Given the description of an element on the screen output the (x, y) to click on. 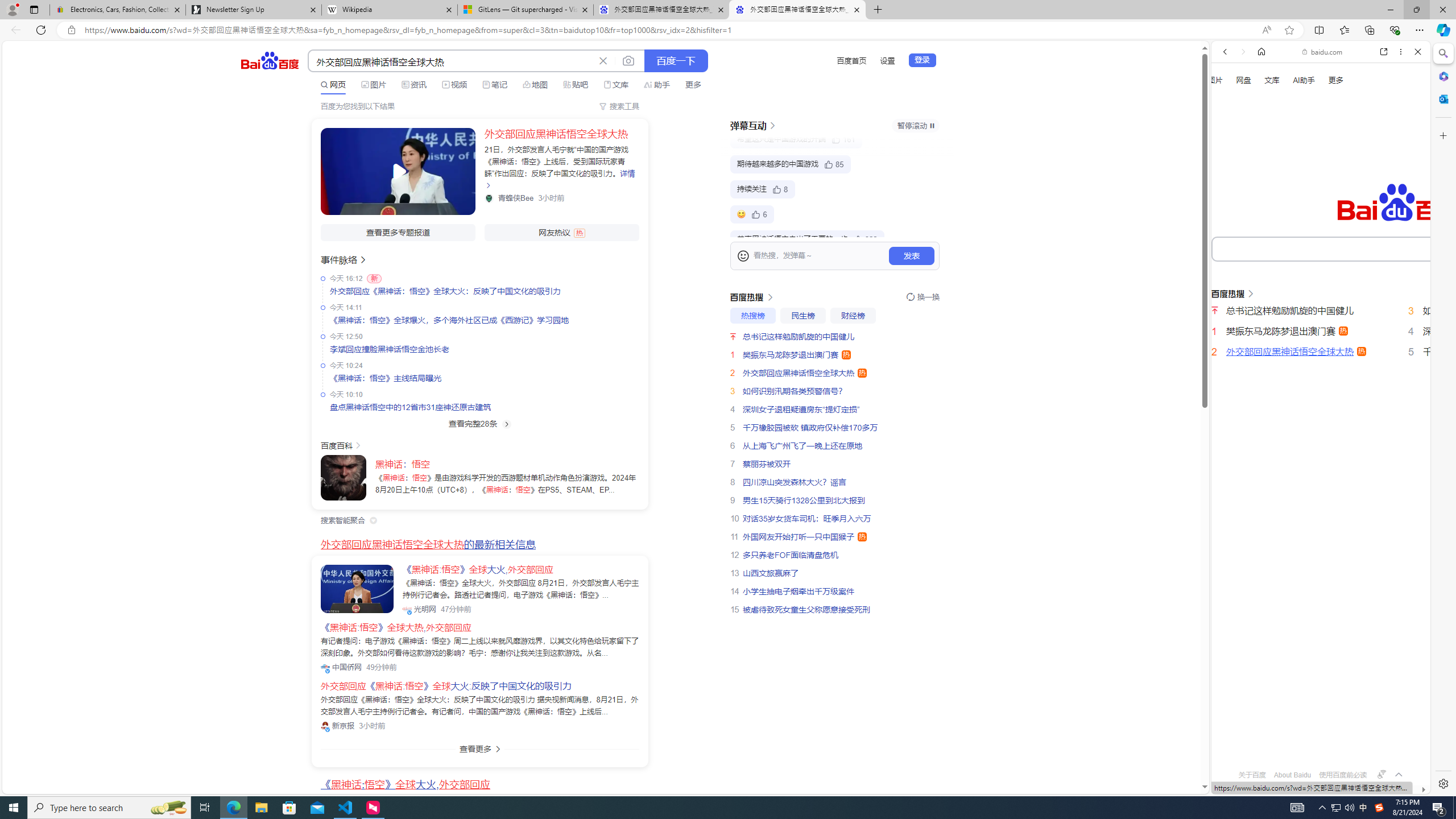
English (US) (1320, 329)
